Given the description of an element on the screen output the (x, y) to click on. 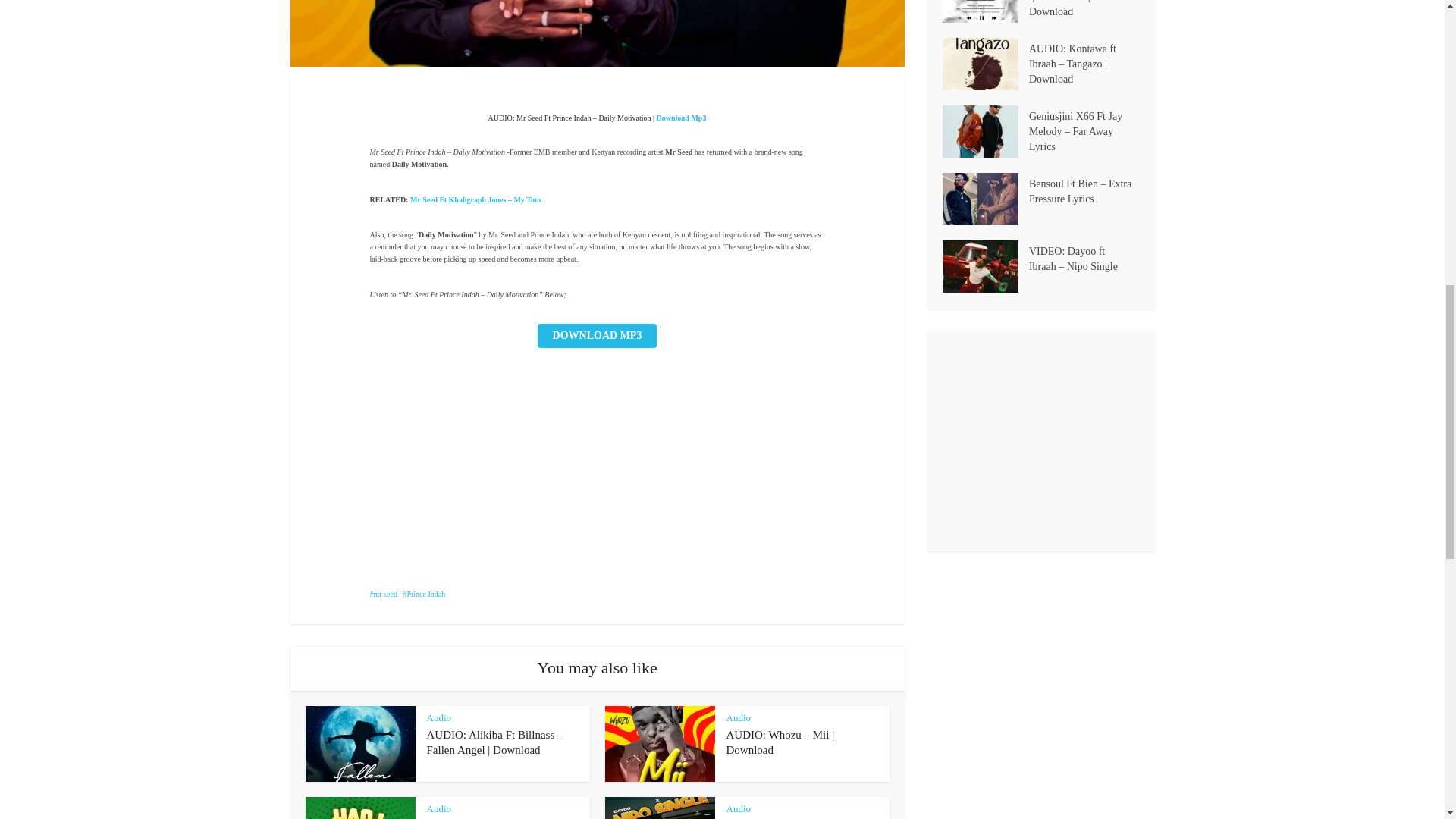
Audio (738, 717)
Audio (438, 717)
DOWNLOAD MP3 (597, 335)
Download Mp3 (681, 117)
Audio (738, 808)
Audio (438, 808)
mr seed (383, 593)
Prince Indah (424, 593)
